Given the description of an element on the screen output the (x, y) to click on. 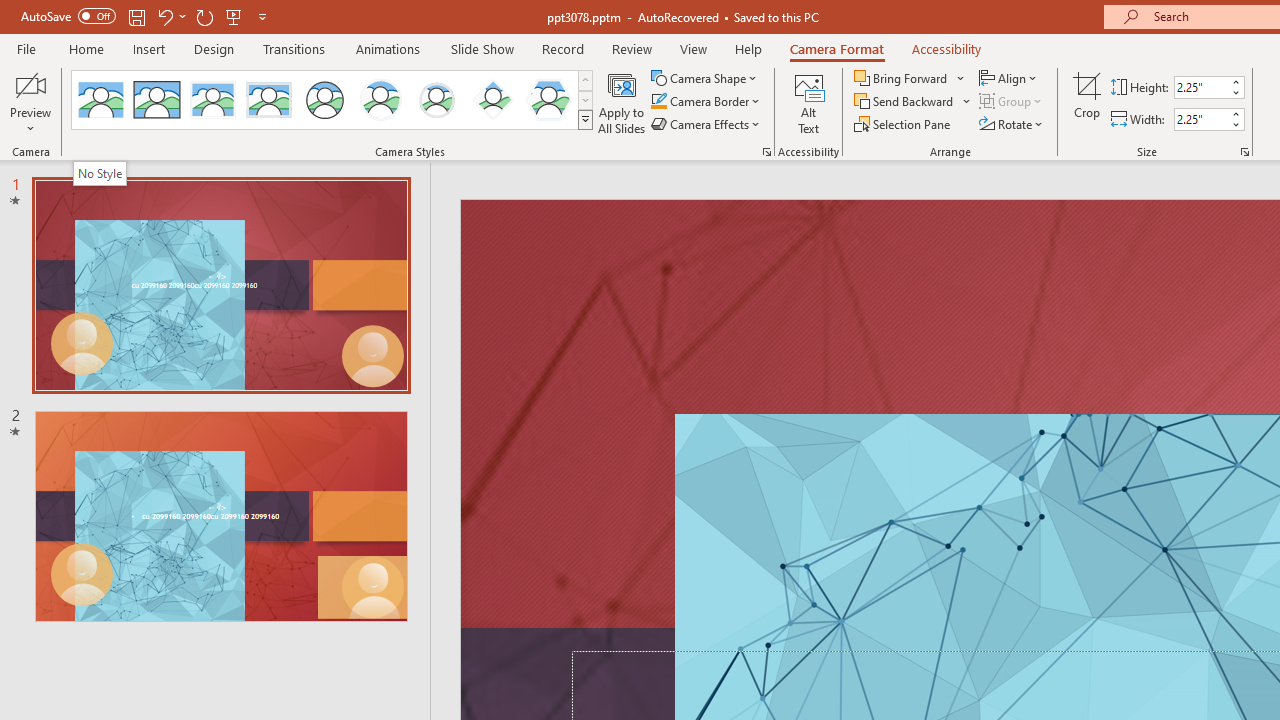
Camera Styles (585, 120)
Bring Forward (902, 78)
Camera Border Green, Accent 1 (658, 101)
Selection Pane... (904, 124)
Center Shadow Hexagon (548, 100)
Camera Shape (705, 78)
Less (1235, 124)
Crop (1087, 102)
